Given the description of an element on the screen output the (x, y) to click on. 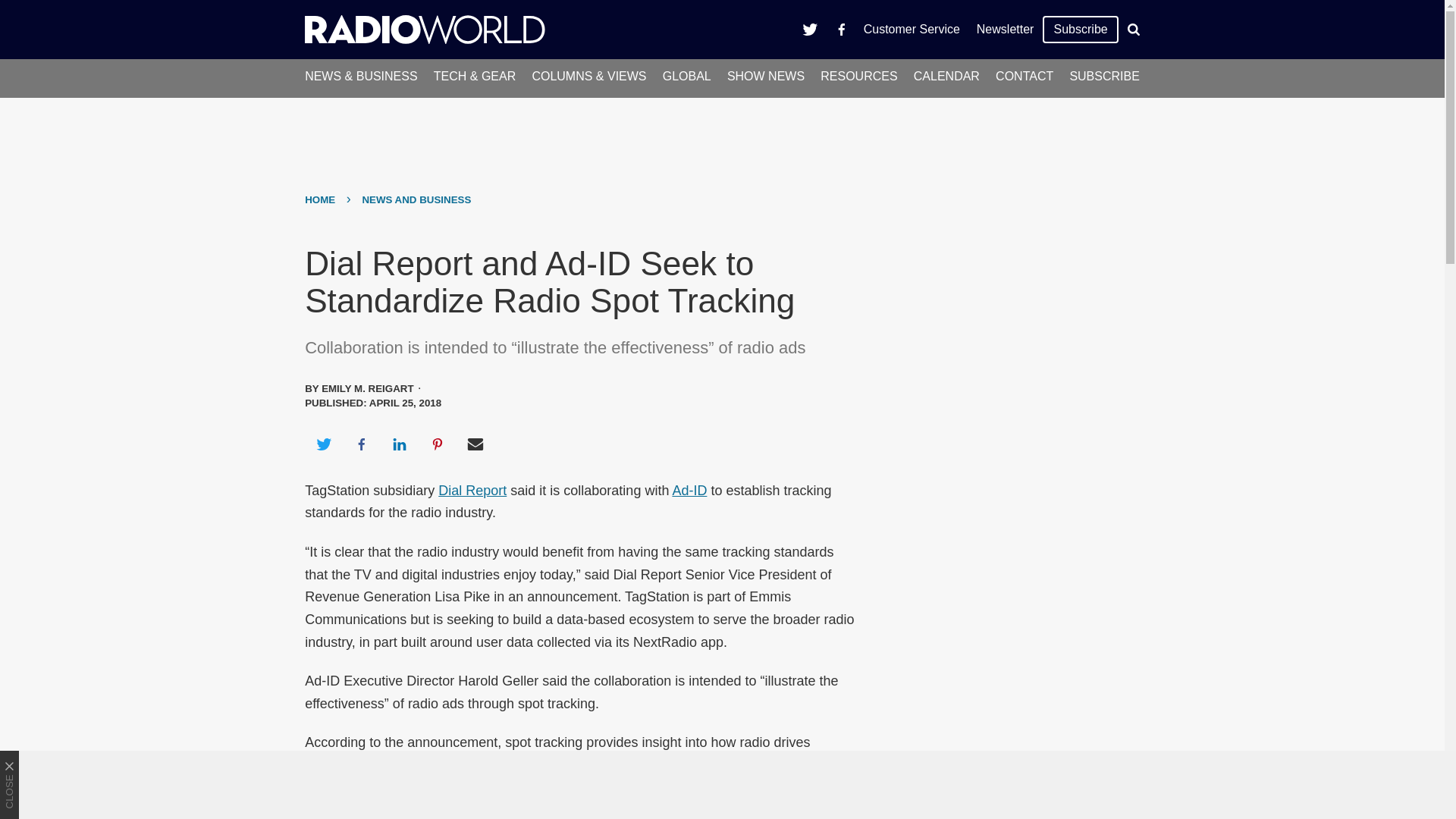
Share via Email (476, 444)
Share on LinkedIn (399, 444)
Share on Facebook (361, 444)
Share on Twitter (323, 444)
Share on Pinterest (438, 444)
Customer Service (912, 29)
